Given the description of an element on the screen output the (x, y) to click on. 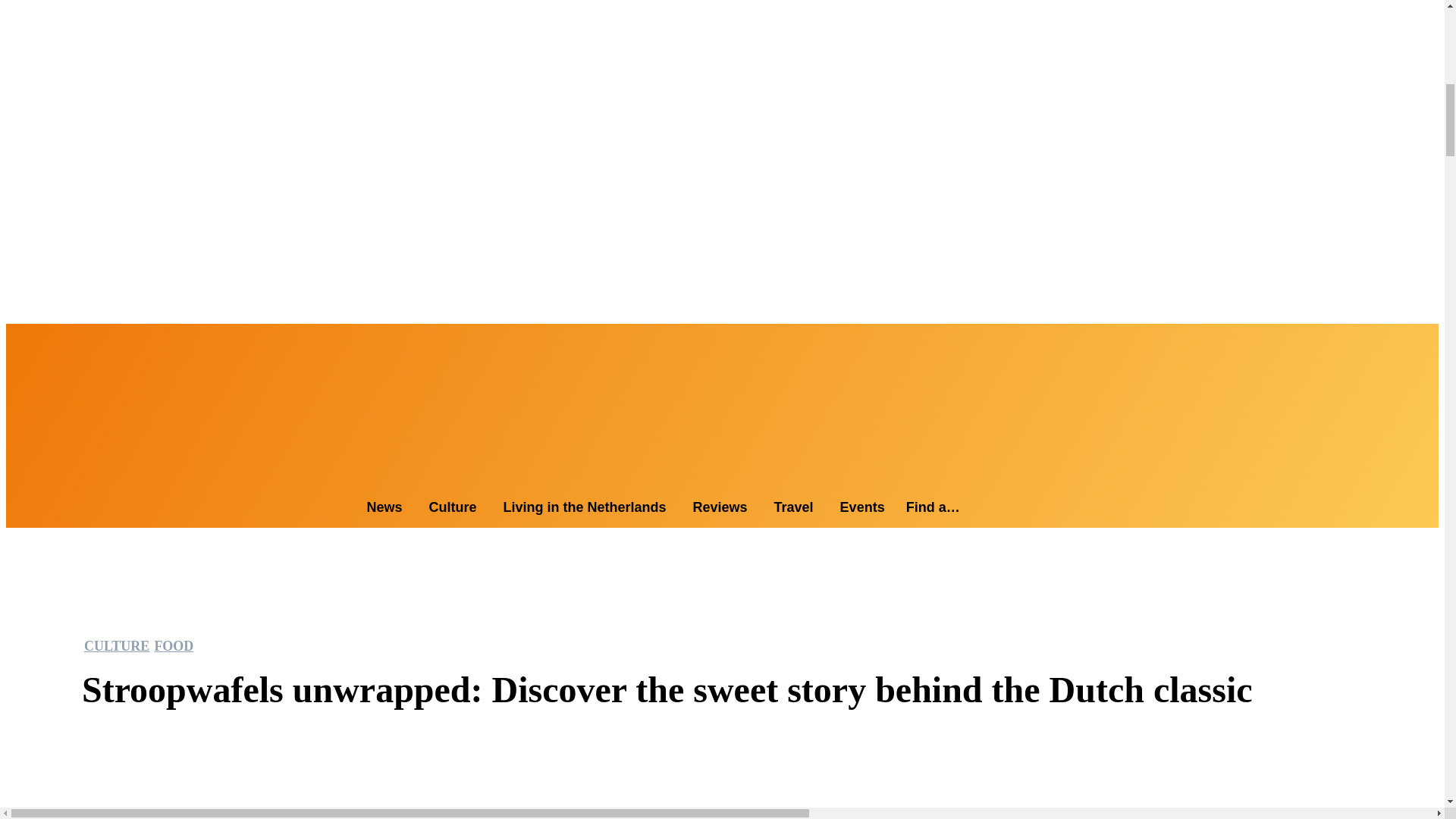
Linkedin (49, 339)
Instagram (31, 339)
Facebook (14, 339)
Twitter (66, 339)
Youtube (84, 339)
